Given the description of an element on the screen output the (x, y) to click on. 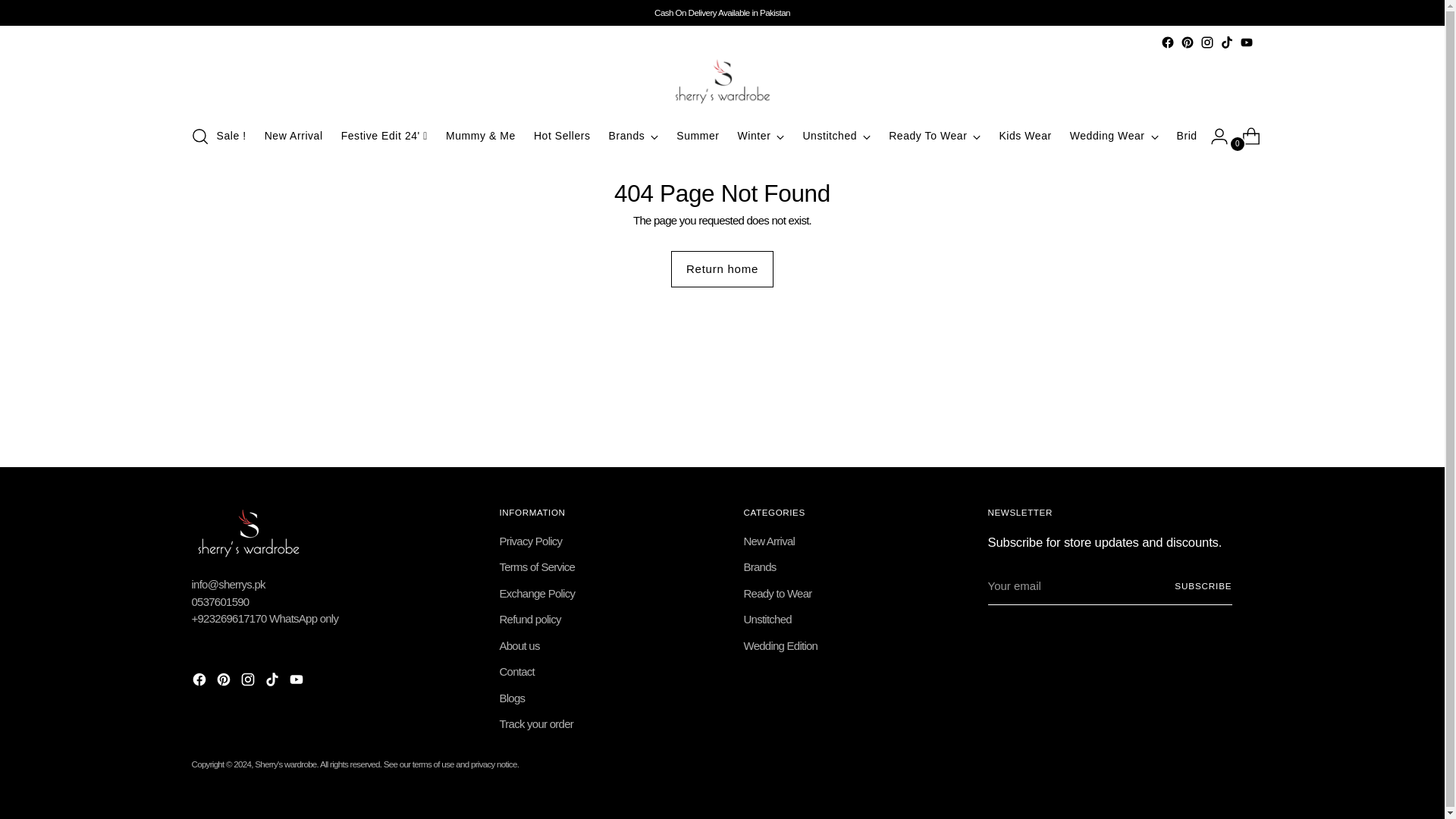
Sherry's wardrobe on YouTube (296, 681)
Sherry's wardrobe on Pinterest (1186, 42)
Sale ! (231, 136)
Sherry's wardrobe on Facebook (1166, 42)
Sherry's wardrobe on Instagram (248, 681)
Sherry's wardrobe on Pinterest (223, 681)
Hot Sellers (562, 136)
Sherry's wardrobe on Tiktok (272, 681)
Sherry's wardrobe on Tiktok (1226, 42)
Sherry's wardrobe on YouTube (1245, 42)
Brands (633, 136)
Sherry's wardrobe on Instagram (1205, 42)
New Arrival (293, 136)
Sherry's wardrobe on Facebook (199, 681)
